Given the description of an element on the screen output the (x, y) to click on. 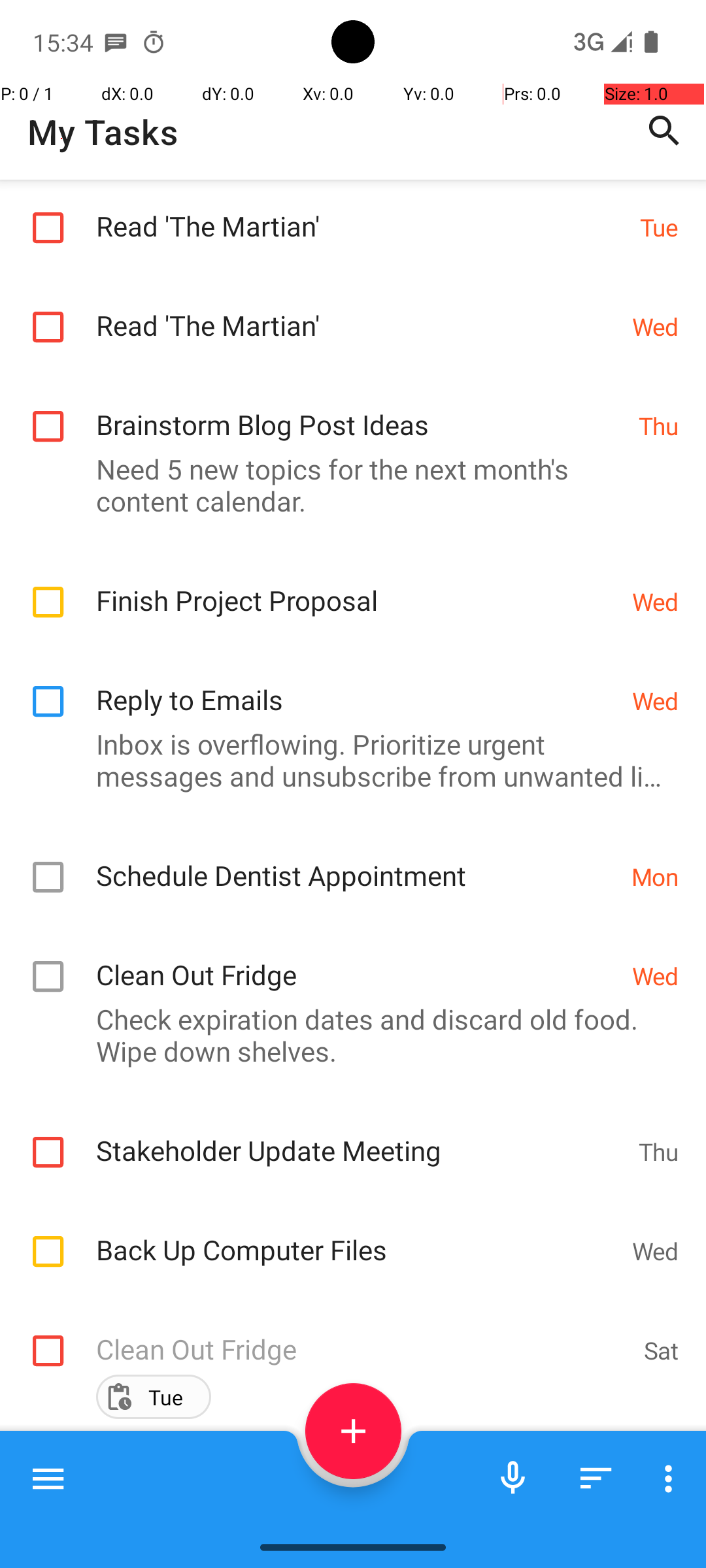
Stakeholder Update Meeting Element type: android.widget.TextView (360, 1136)
